Given the description of an element on the screen output the (x, y) to click on. 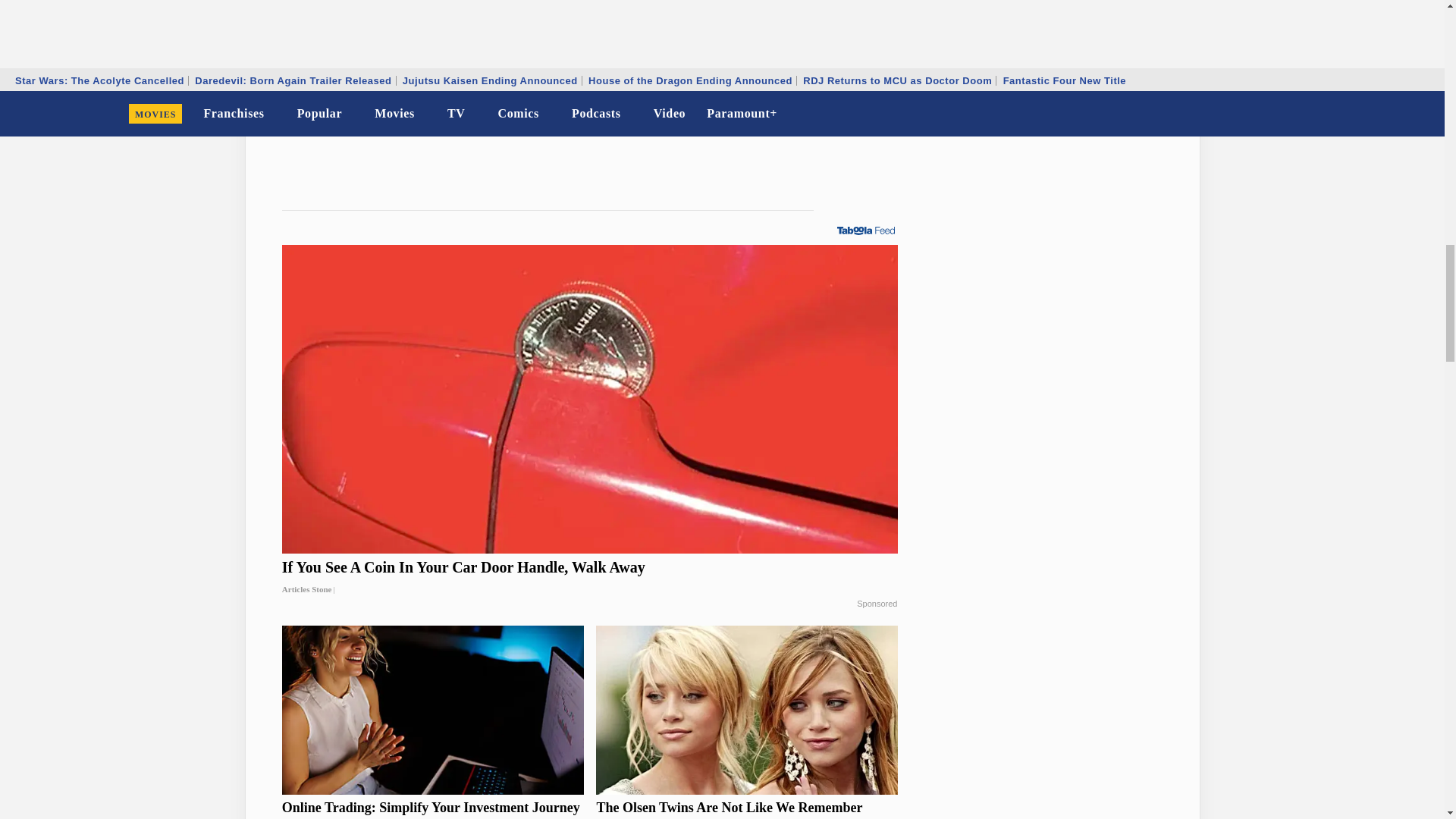
If You See A Coin In Your Car Door Handle, Walk Away (590, 578)
The Olsen Twins Are Not Like We Remember (746, 808)
Online Trading: Simplify Your Investment Journey (432, 808)
Video Player (590, 73)
